Given the description of an element on the screen output the (x, y) to click on. 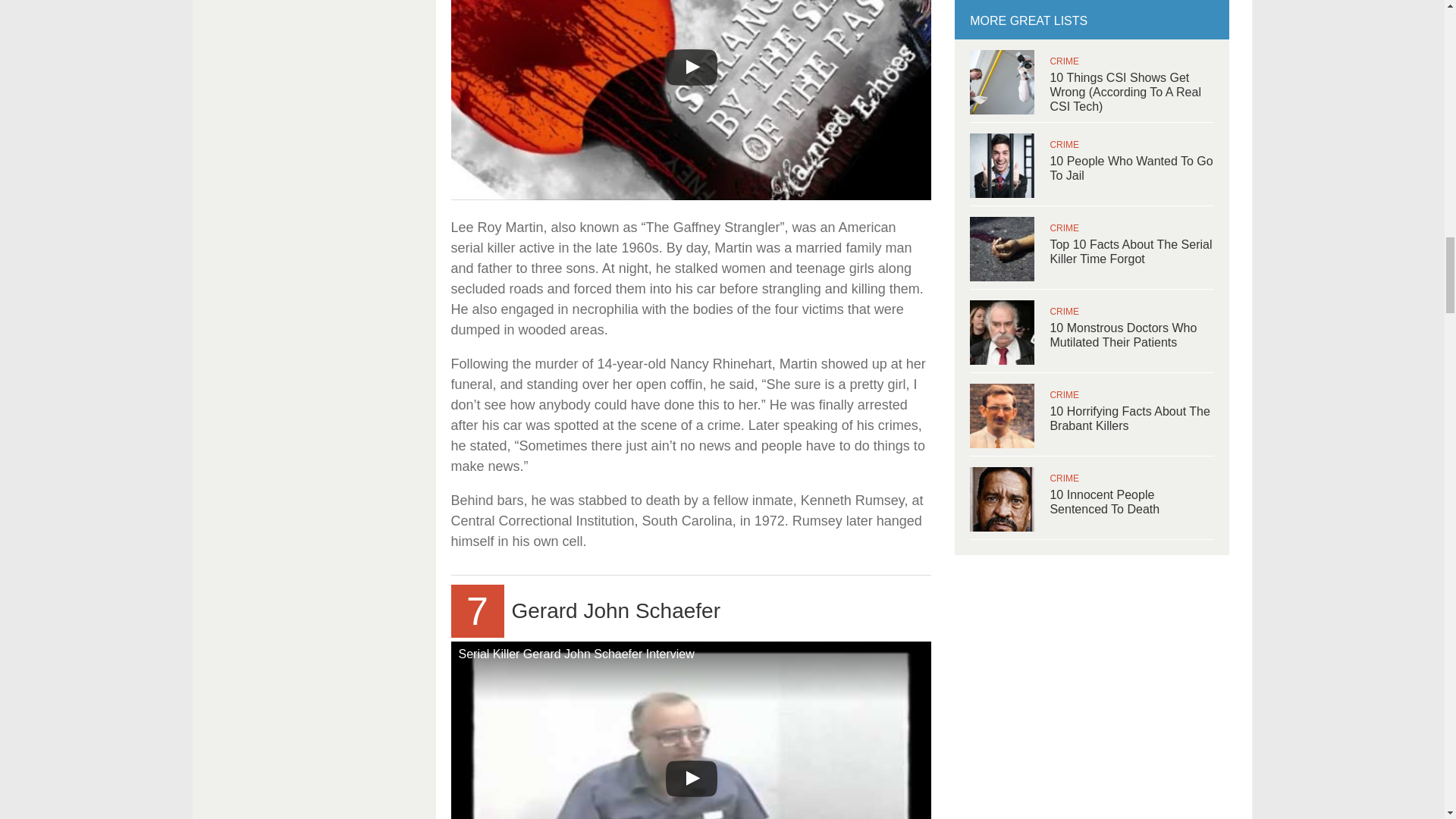
Haunted Echoes: The Gaffney Strangler (689, 99)
Serial Killer Gerard John Schaefer Interview (689, 730)
